Given the description of an element on the screen output the (x, y) to click on. 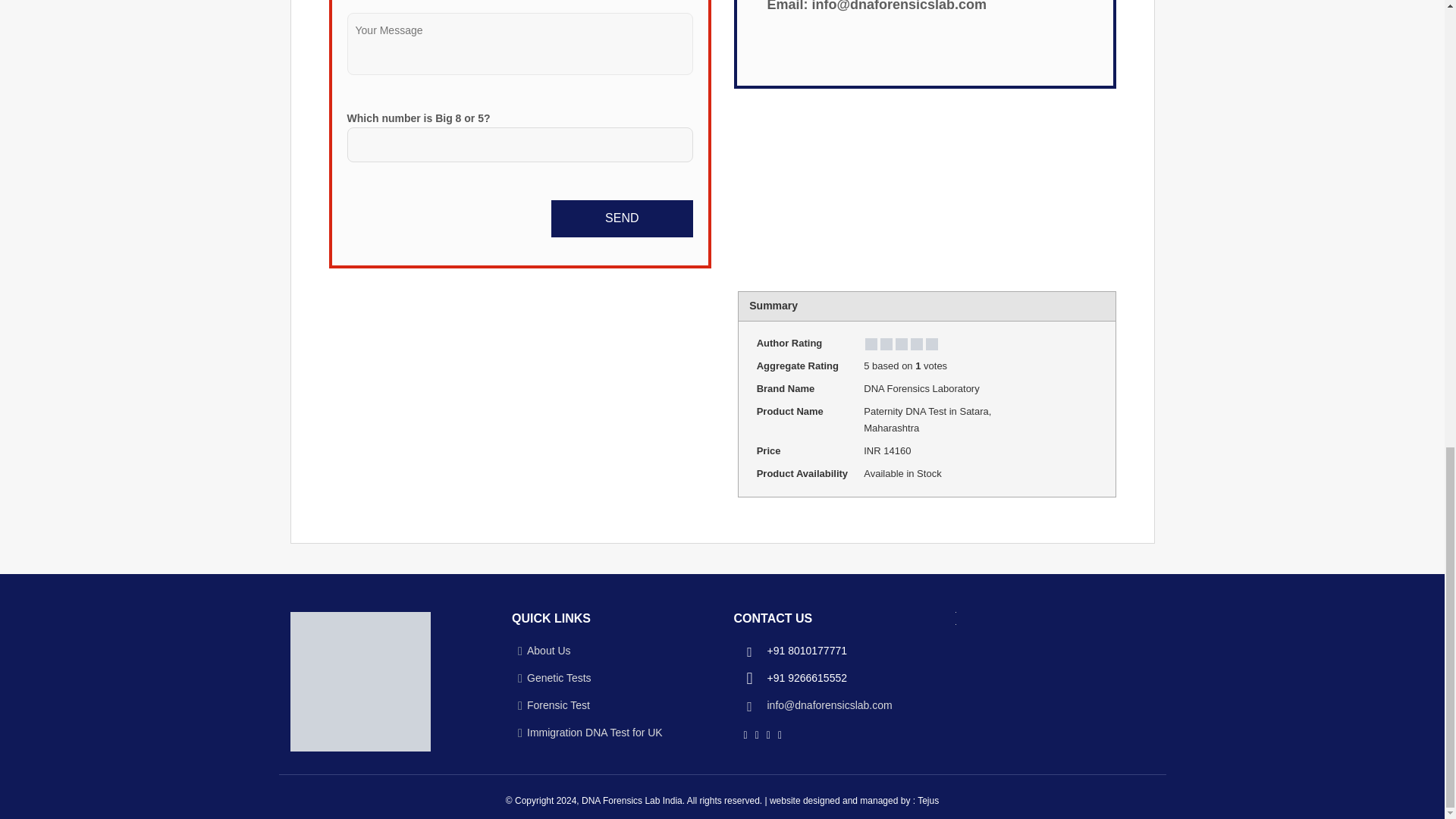
3 (1071, 305)
4 (1084, 305)
1 (1046, 305)
Send (622, 218)
5 (1097, 305)
Cancel Rating (1032, 305)
2 (1058, 305)
